Given the description of an element on the screen output the (x, y) to click on. 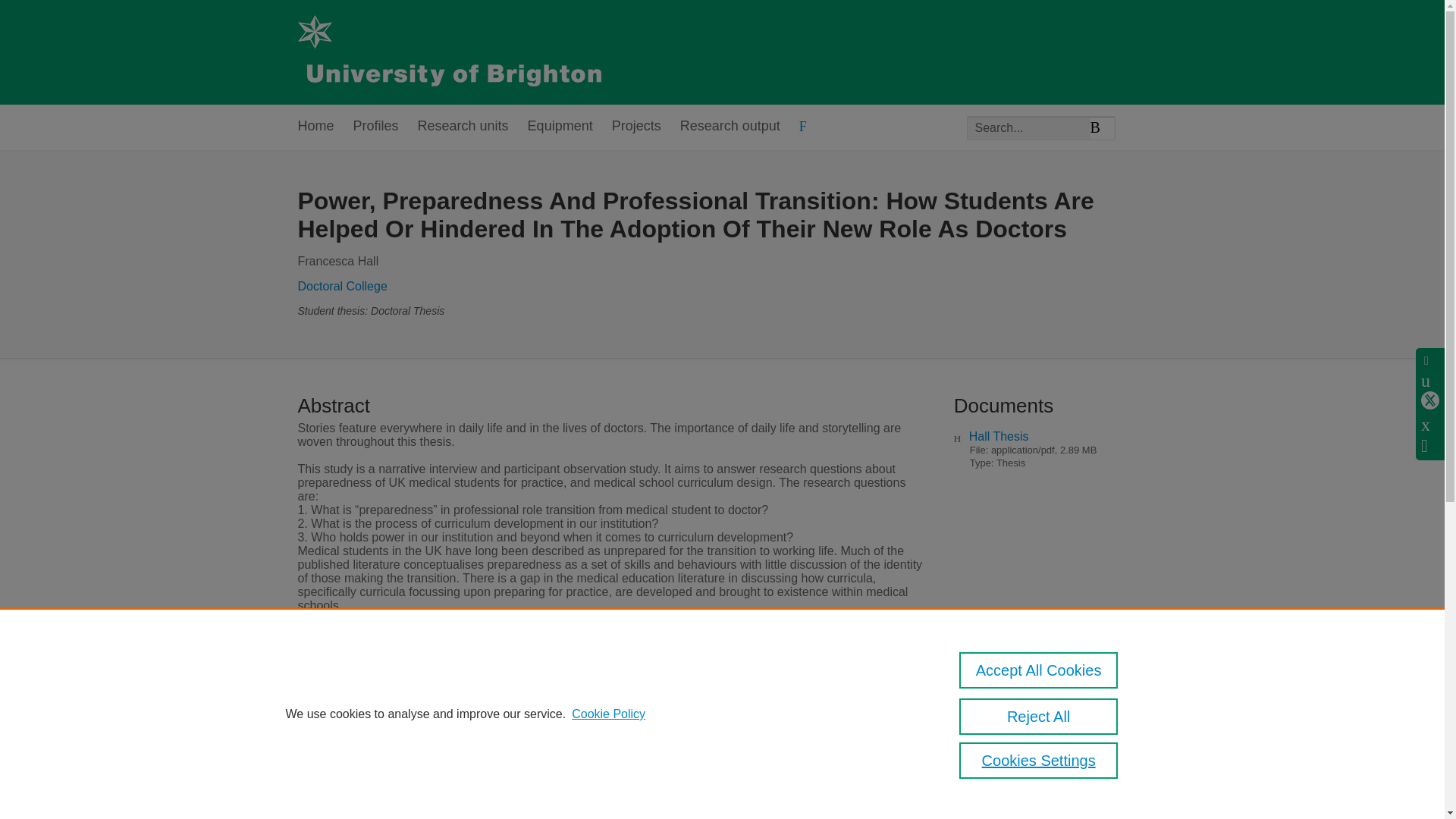
Reject All (1038, 716)
Doctoral College (342, 286)
Projects (636, 126)
Equipment (559, 126)
Cookie Policy (608, 713)
Accept All Cookies (1038, 669)
Research units (462, 126)
Profiles (375, 126)
The University of Brighton Home (448, 52)
Research output (729, 126)
Cookies Settings (1038, 760)
Hall Thesis (999, 436)
